Given the description of an element on the screen output the (x, y) to click on. 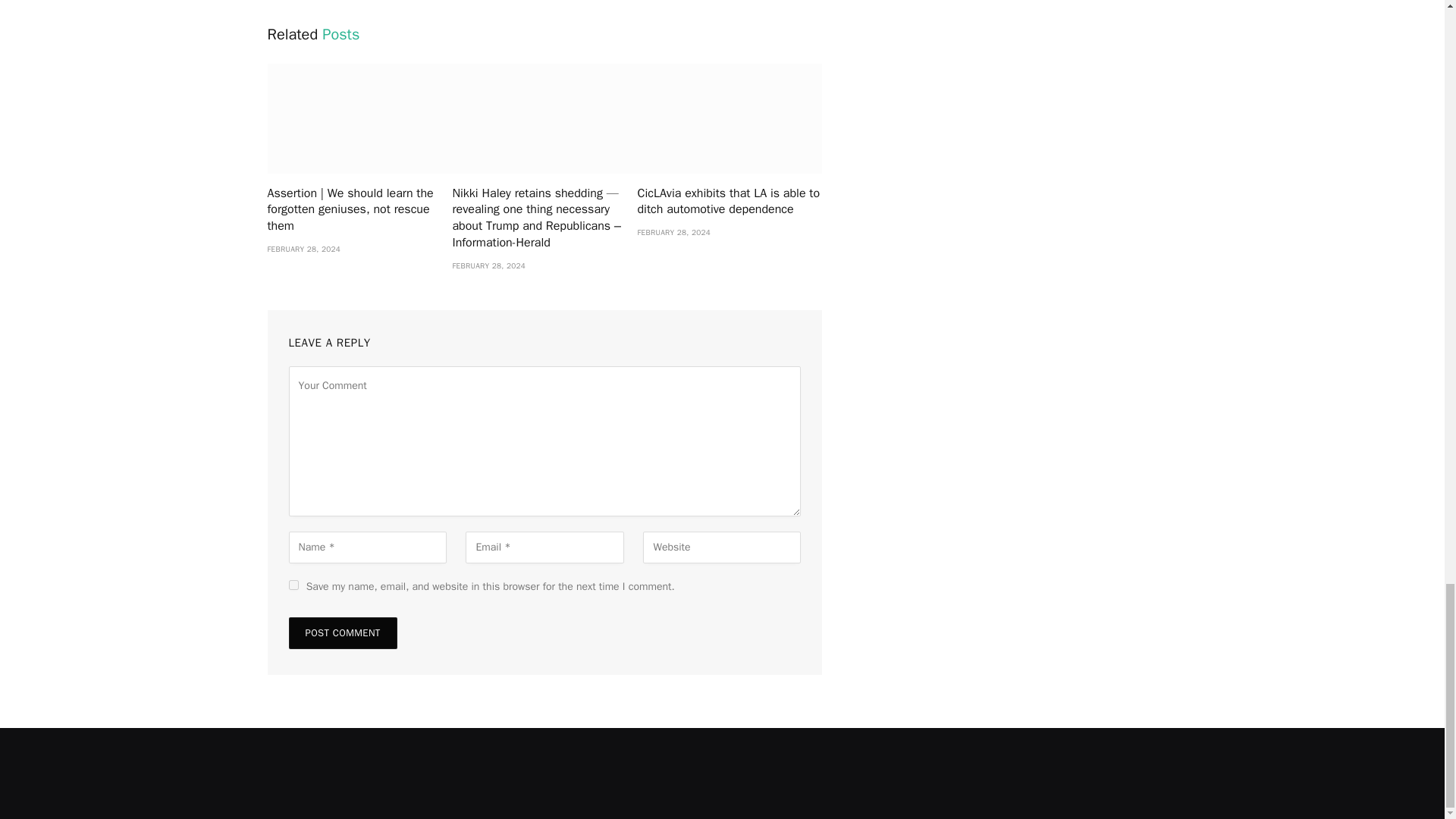
yes (293, 584)
Post Comment (342, 633)
